Given the description of an element on the screen output the (x, y) to click on. 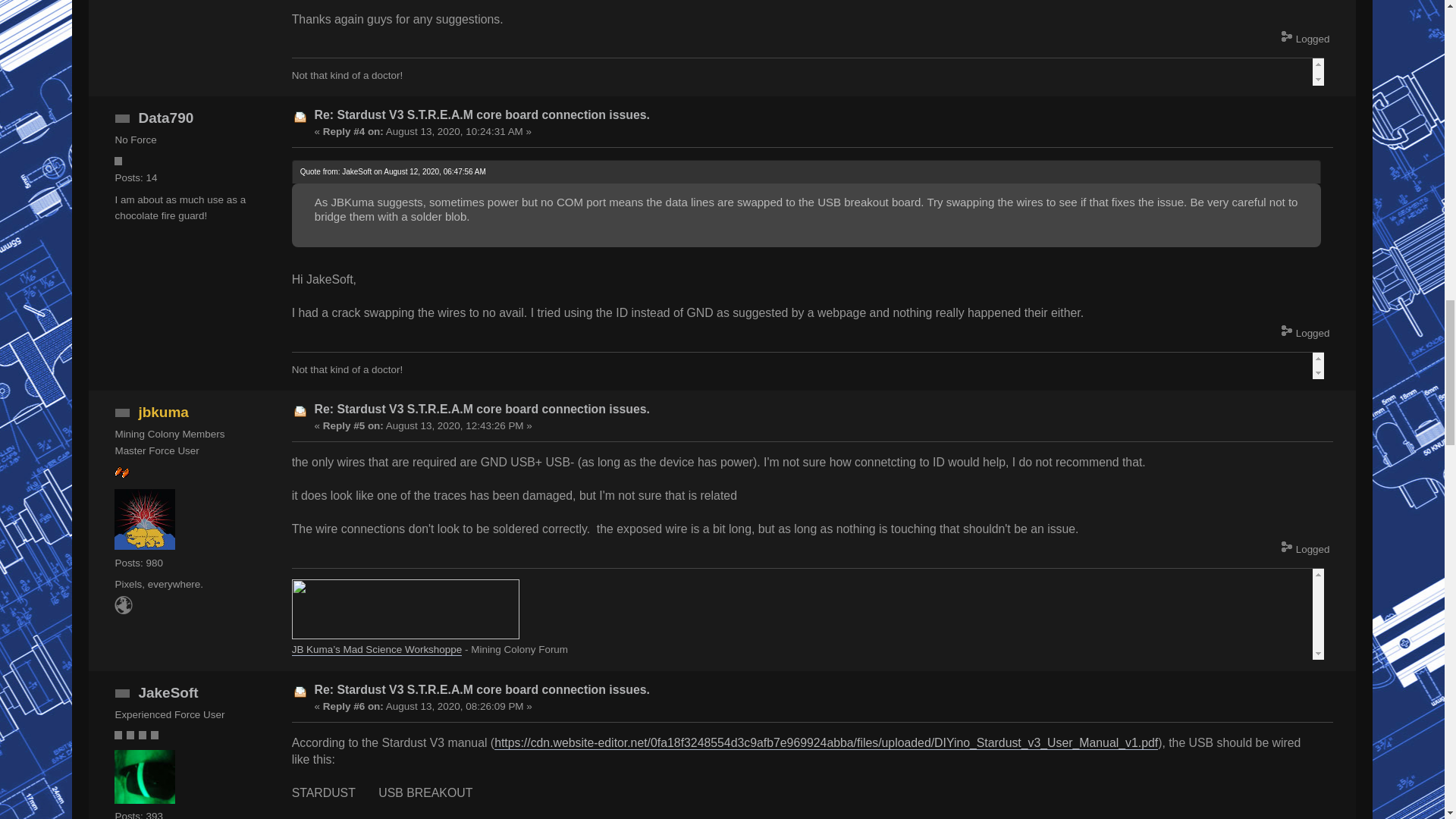
View the profile of jbkuma (163, 412)
View the profile of Data790 (165, 117)
Mad Science Workshoppe (123, 610)
View the profile of JakeSoft (168, 692)
